Given the description of an element on the screen output the (x, y) to click on. 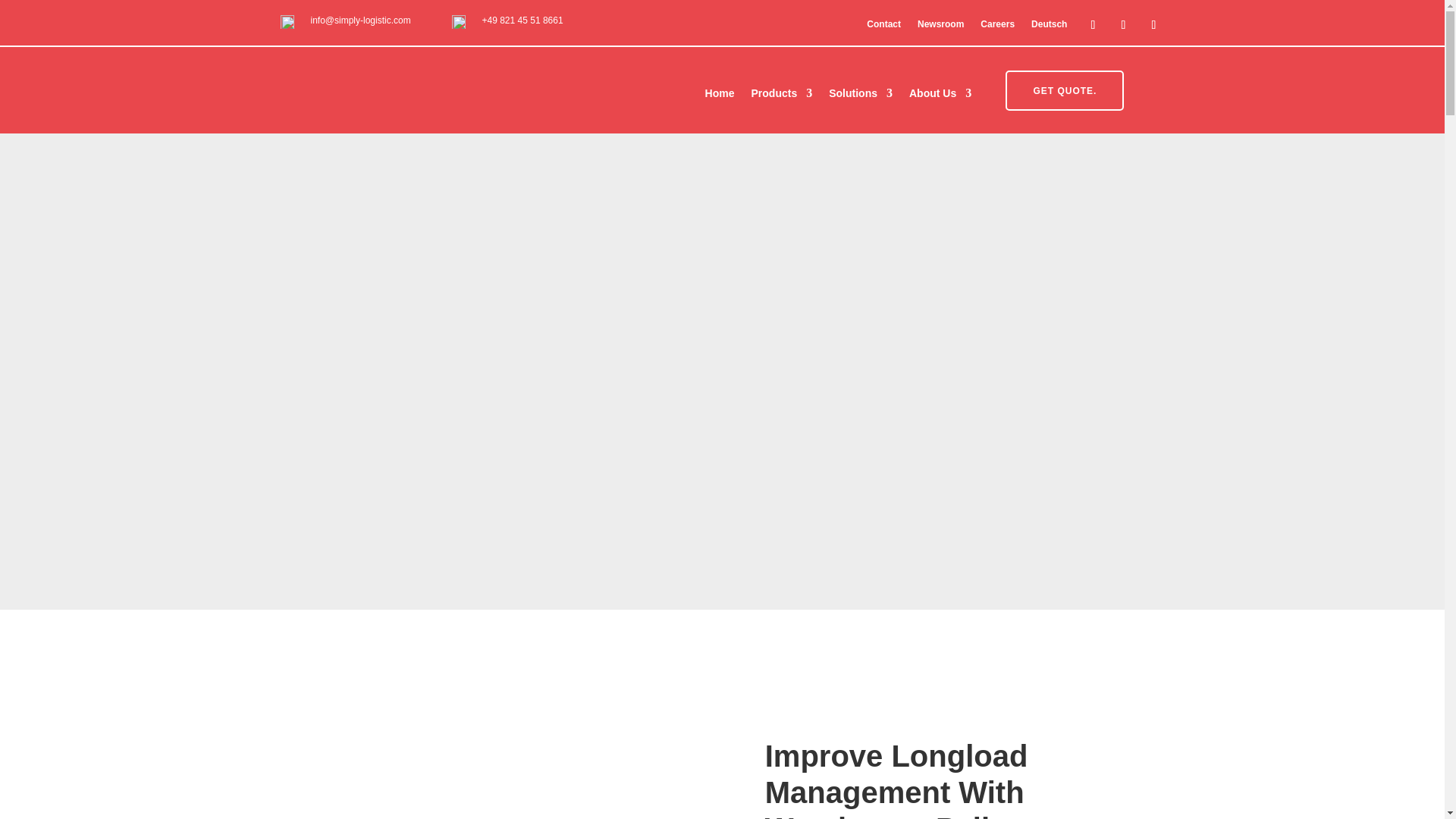
Home (719, 95)
Contact (883, 27)
Products (781, 95)
GET QUOTE. (1065, 90)
Follow on Youtube (1153, 24)
Careers (996, 27)
Newsroom (940, 27)
Deutsch (1048, 27)
Follow on LinkedIn (1092, 24)
Solutions (860, 95)
